Given the description of an element on the screen output the (x, y) to click on. 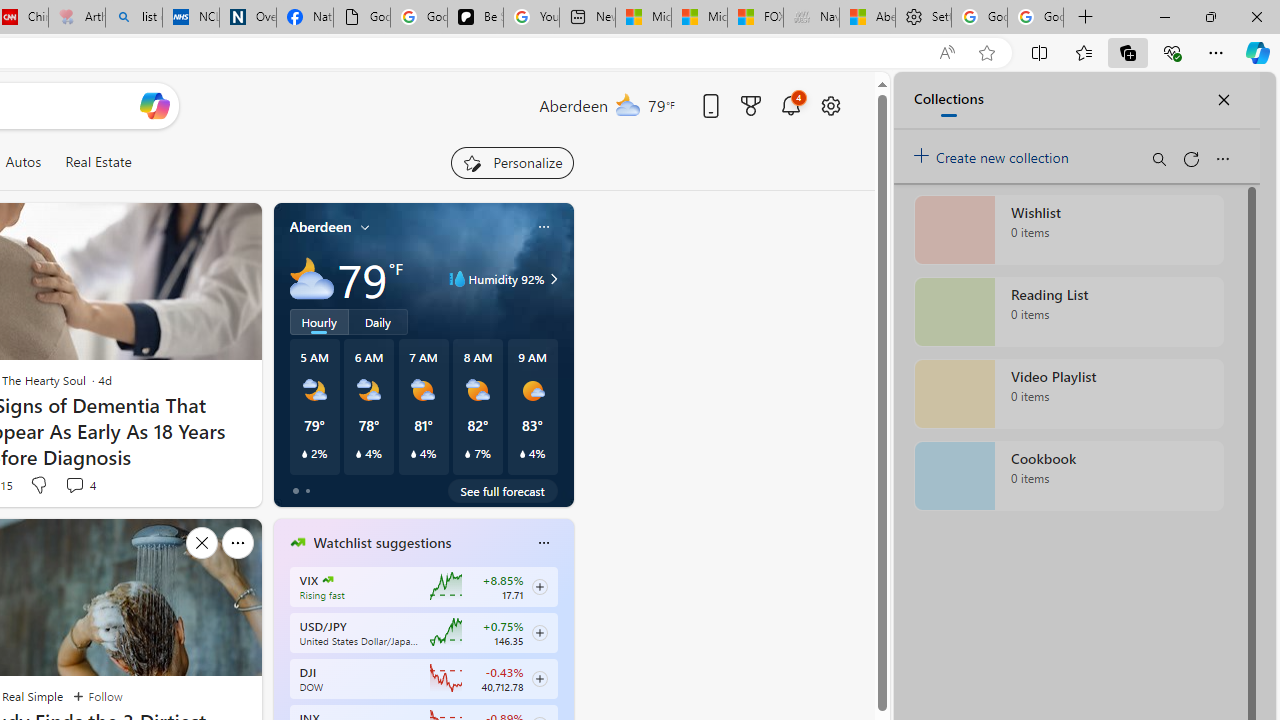
Mostly cloudy (311, 278)
Personalize your feed" (511, 162)
View comments 4 Comment (79, 484)
